Given the description of an element on the screen output the (x, y) to click on. 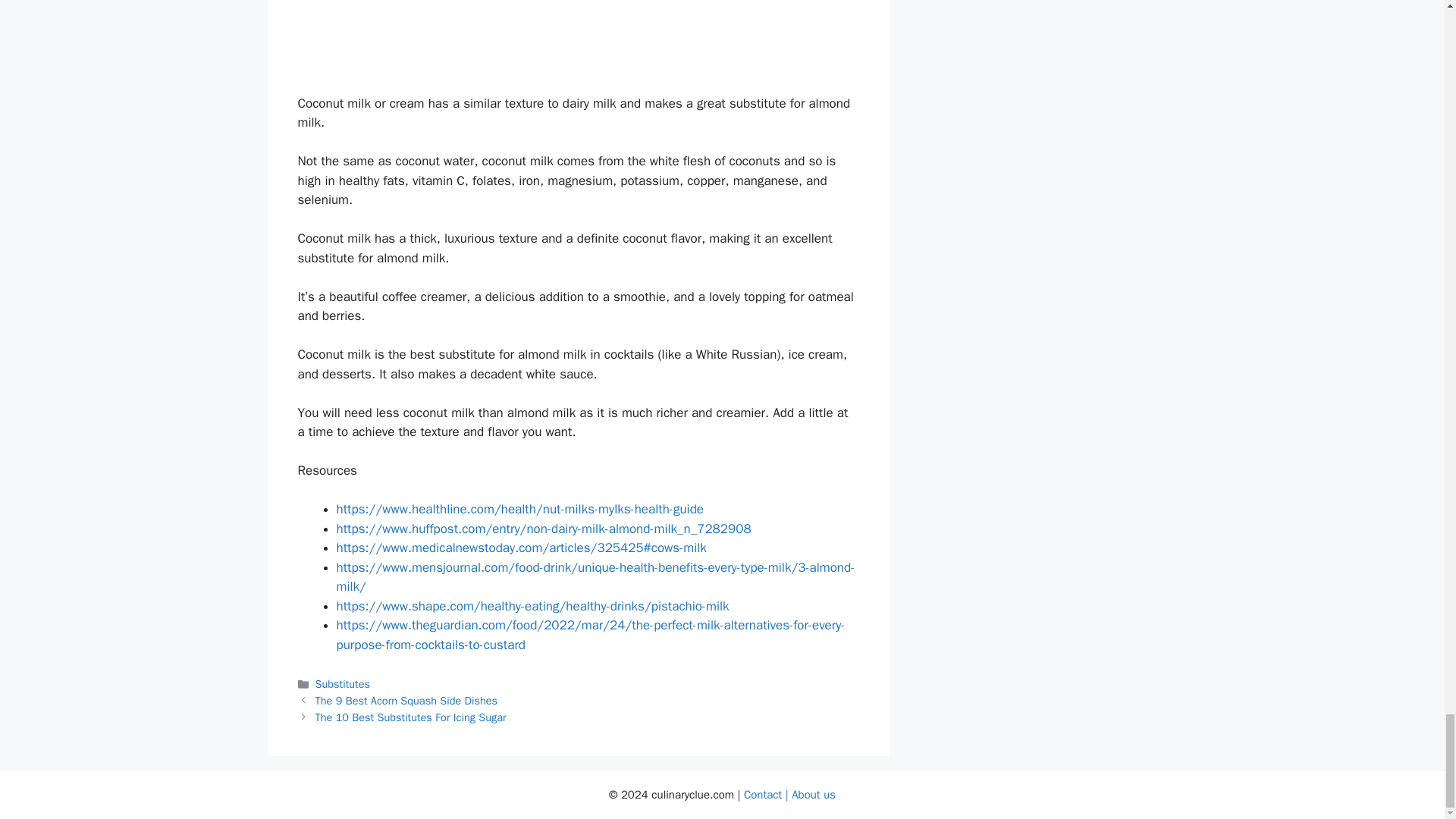
The 9 Best Acorn Squash Side Dishes (406, 700)
The 10 Best Substitutes For Icing Sugar (410, 716)
Previous (406, 700)
Substitutes (342, 684)
Next (410, 716)
